Given the description of an element on the screen output the (x, y) to click on. 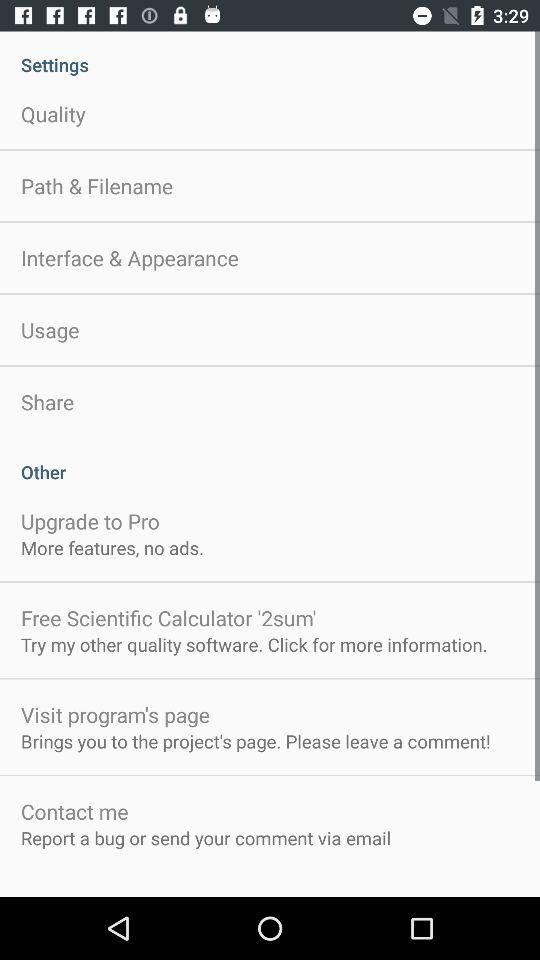
click the item above the free scientific calculator (112, 547)
